Given the description of an element on the screen output the (x, y) to click on. 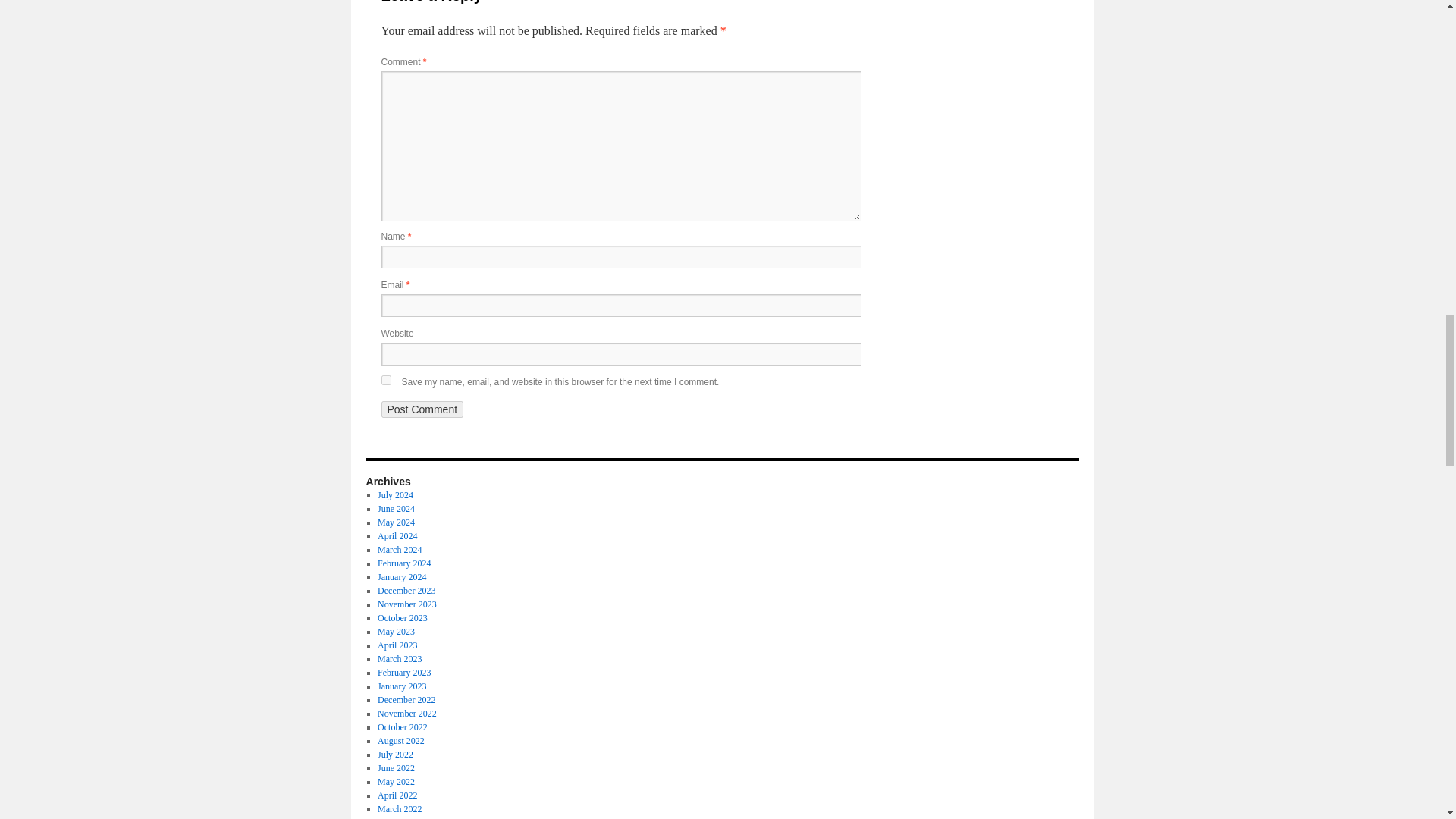
Post Comment (421, 409)
yes (385, 379)
Post Comment (421, 409)
